Given the description of an element on the screen output the (x, y) to click on. 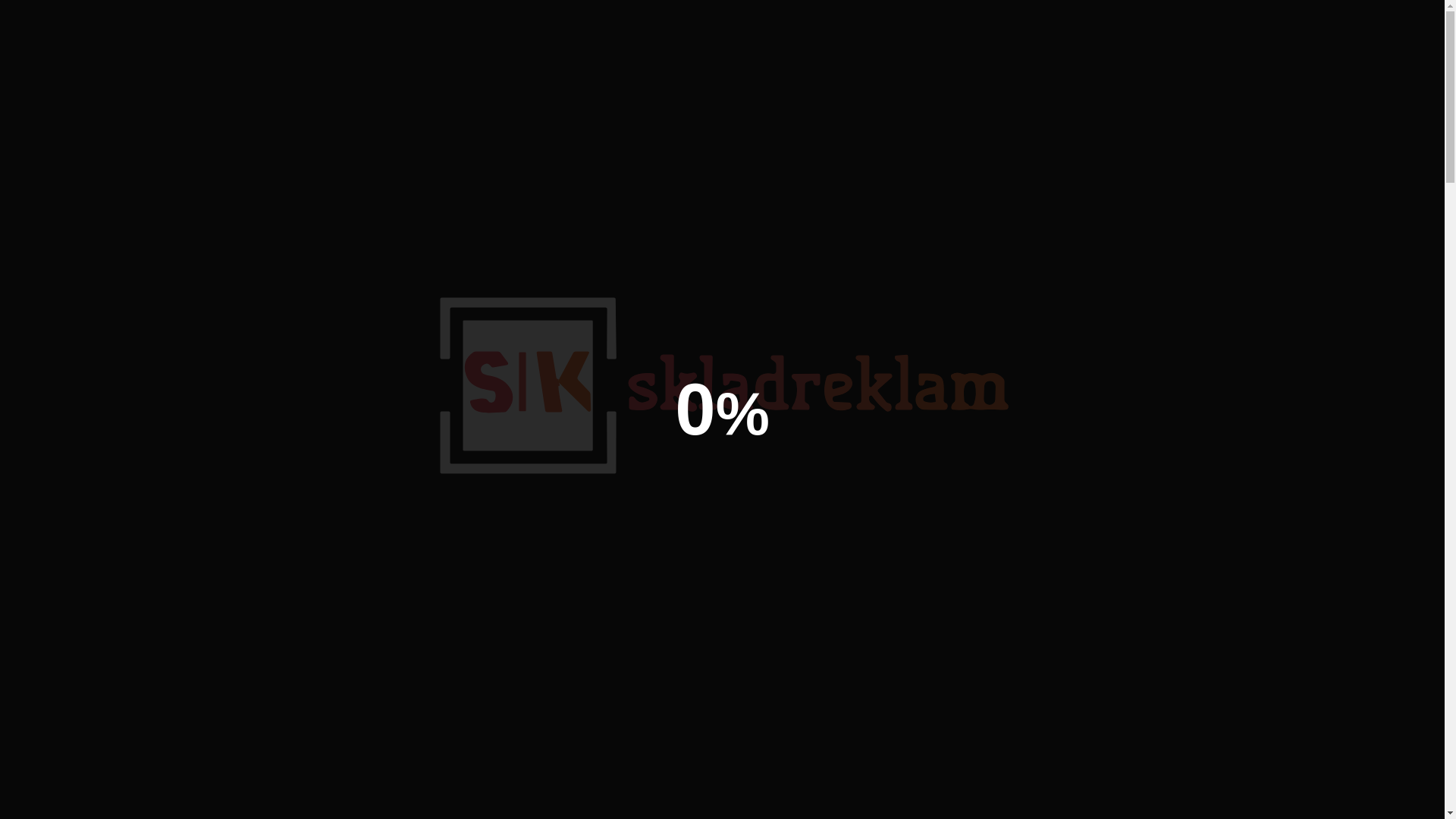
+375297267954 Element type: text (1306, 53)
